Given the description of an element on the screen output the (x, y) to click on. 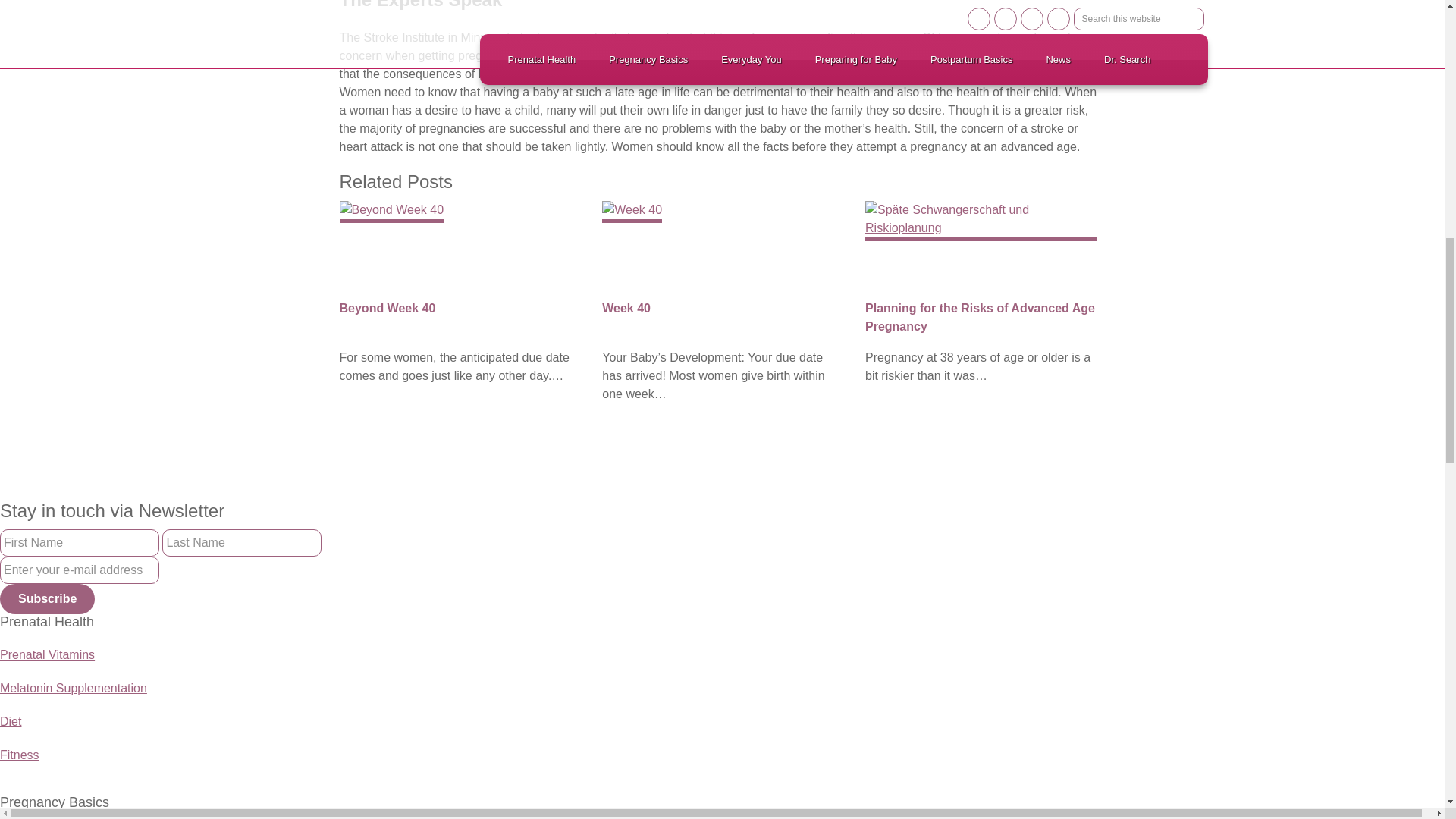
Subscribe (47, 598)
